Given the description of an element on the screen output the (x, y) to click on. 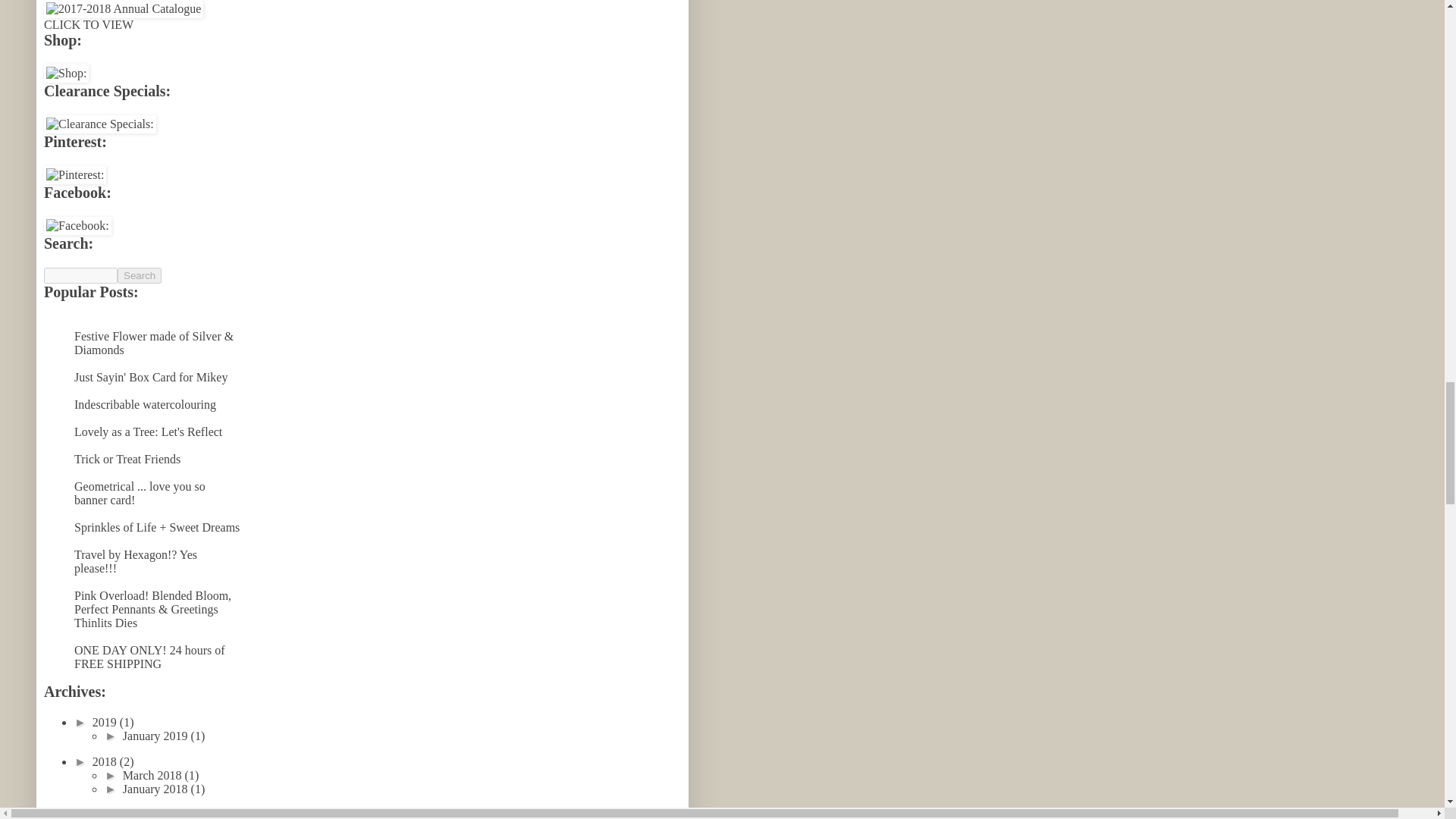
Just Sayin' Box Card for Mikey (150, 377)
Search (139, 275)
Search (139, 275)
search (139, 275)
Search (139, 275)
search (80, 275)
